Given the description of an element on the screen output the (x, y) to click on. 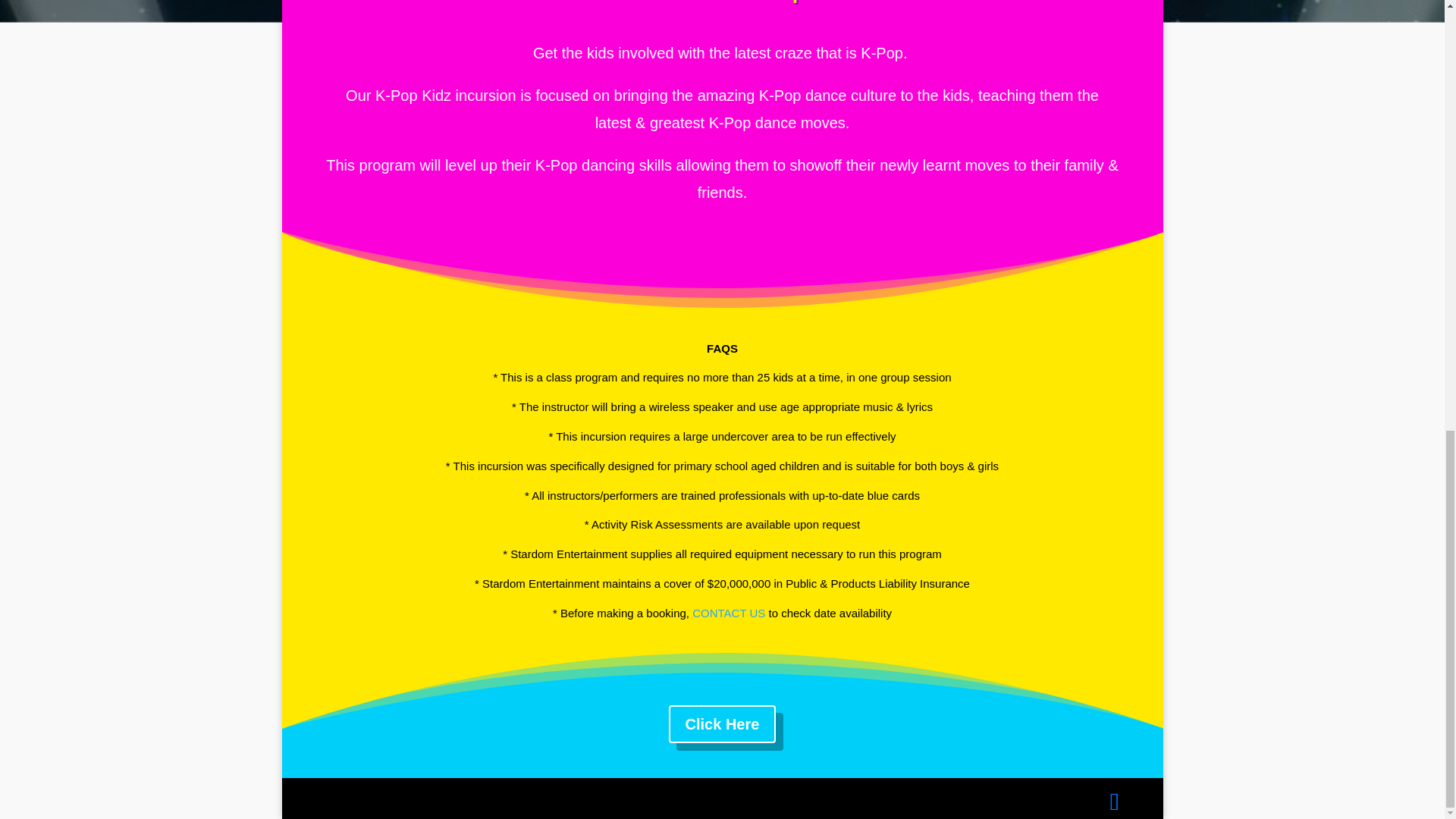
Premium WordPress Themes (398, 797)
Elegant Themes (398, 797)
Click Here (722, 723)
CONTACT US (729, 612)
WordPress (496, 797)
